Given the description of an element on the screen output the (x, y) to click on. 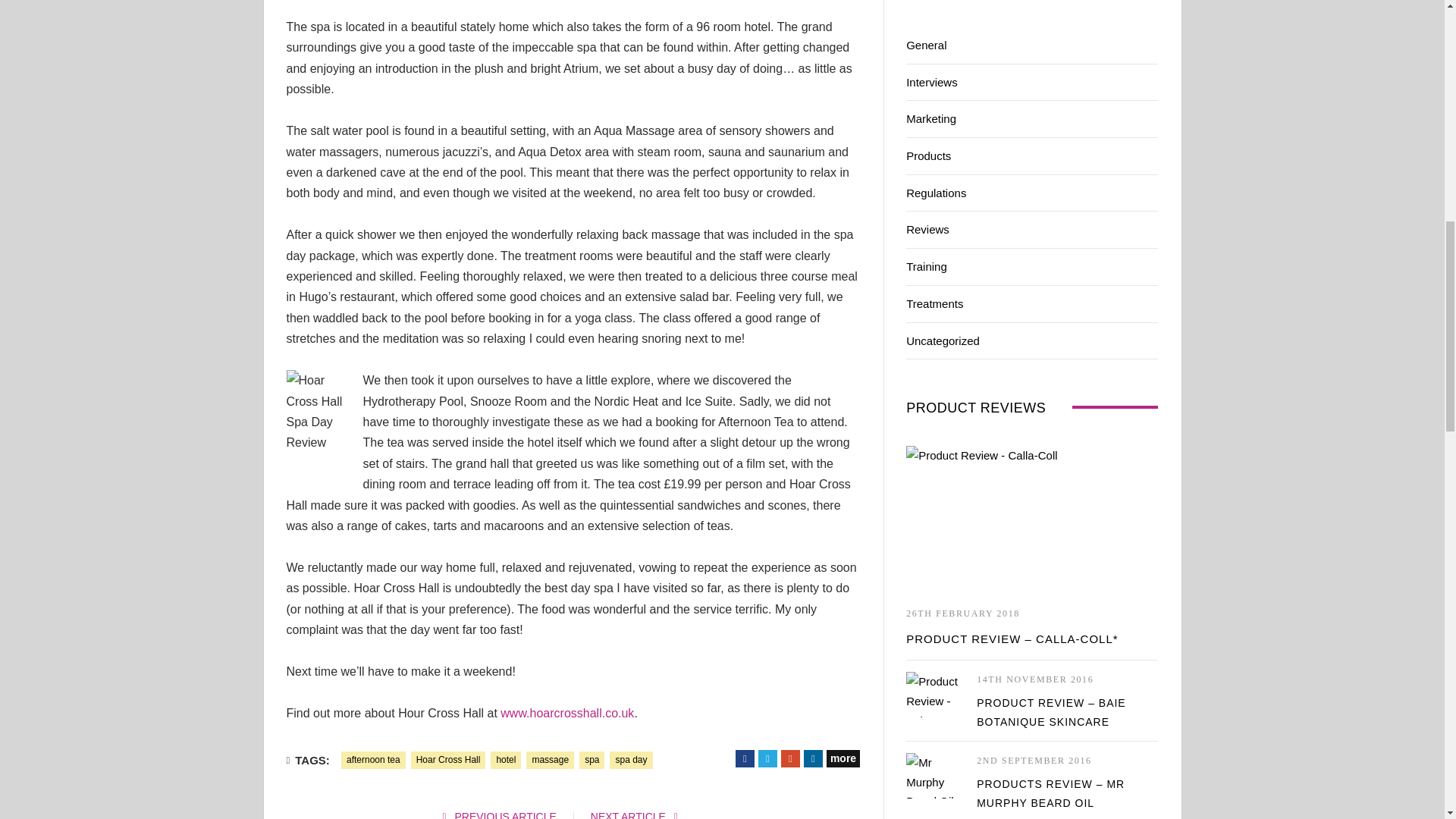
Facebook (744, 758)
spa day (631, 760)
www.hoarcrosshall.co.uk (566, 712)
hotel (505, 760)
spa (591, 760)
Twitter (767, 758)
Hoar Cross Hall (448, 760)
massage (549, 760)
Share on Facebook (744, 758)
Tweet It (767, 758)
afternoon tea (373, 760)
